Given the description of an element on the screen output the (x, y) to click on. 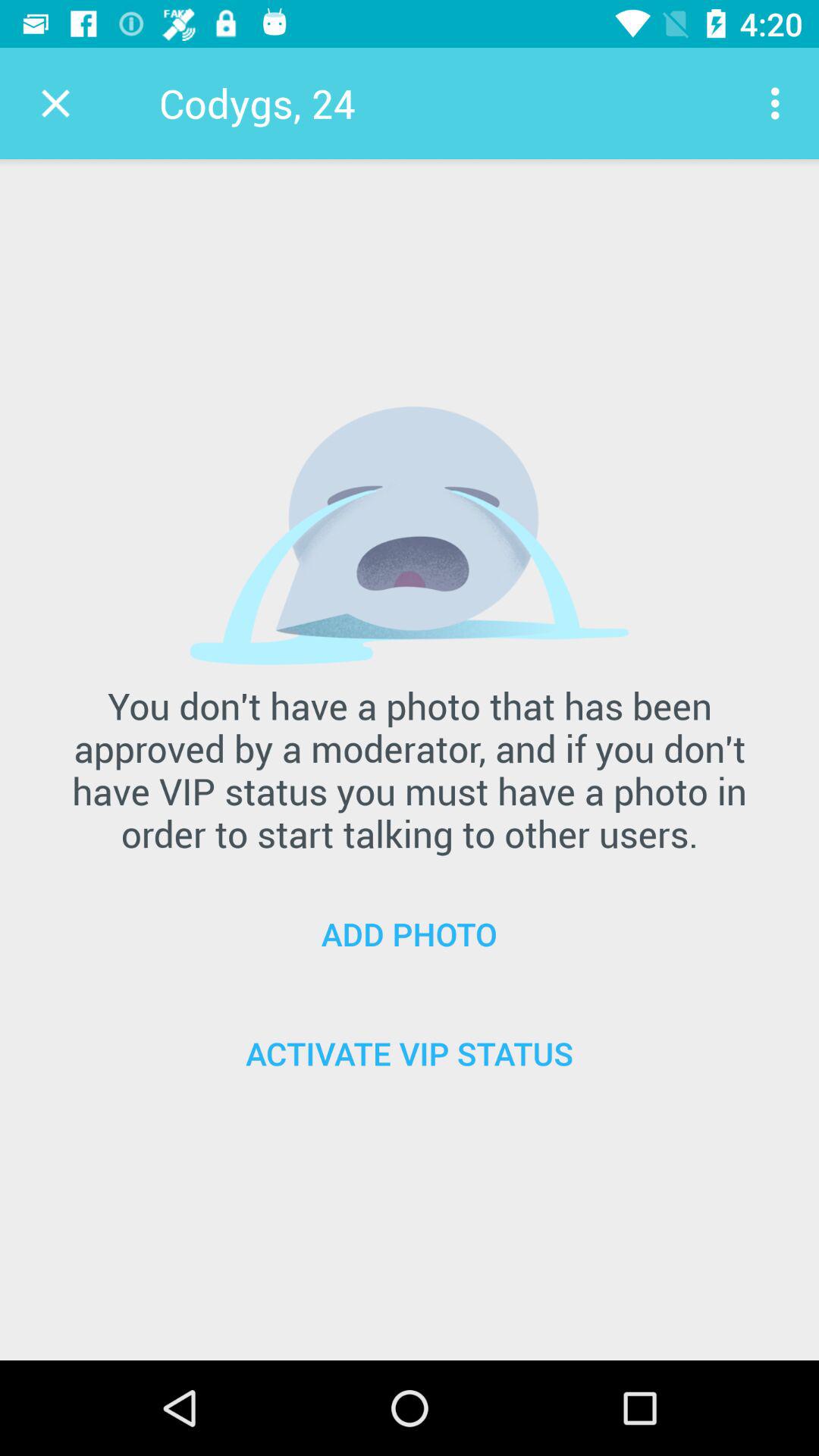
turn on codygs, 24 icon (257, 102)
